Given the description of an element on the screen output the (x, y) to click on. 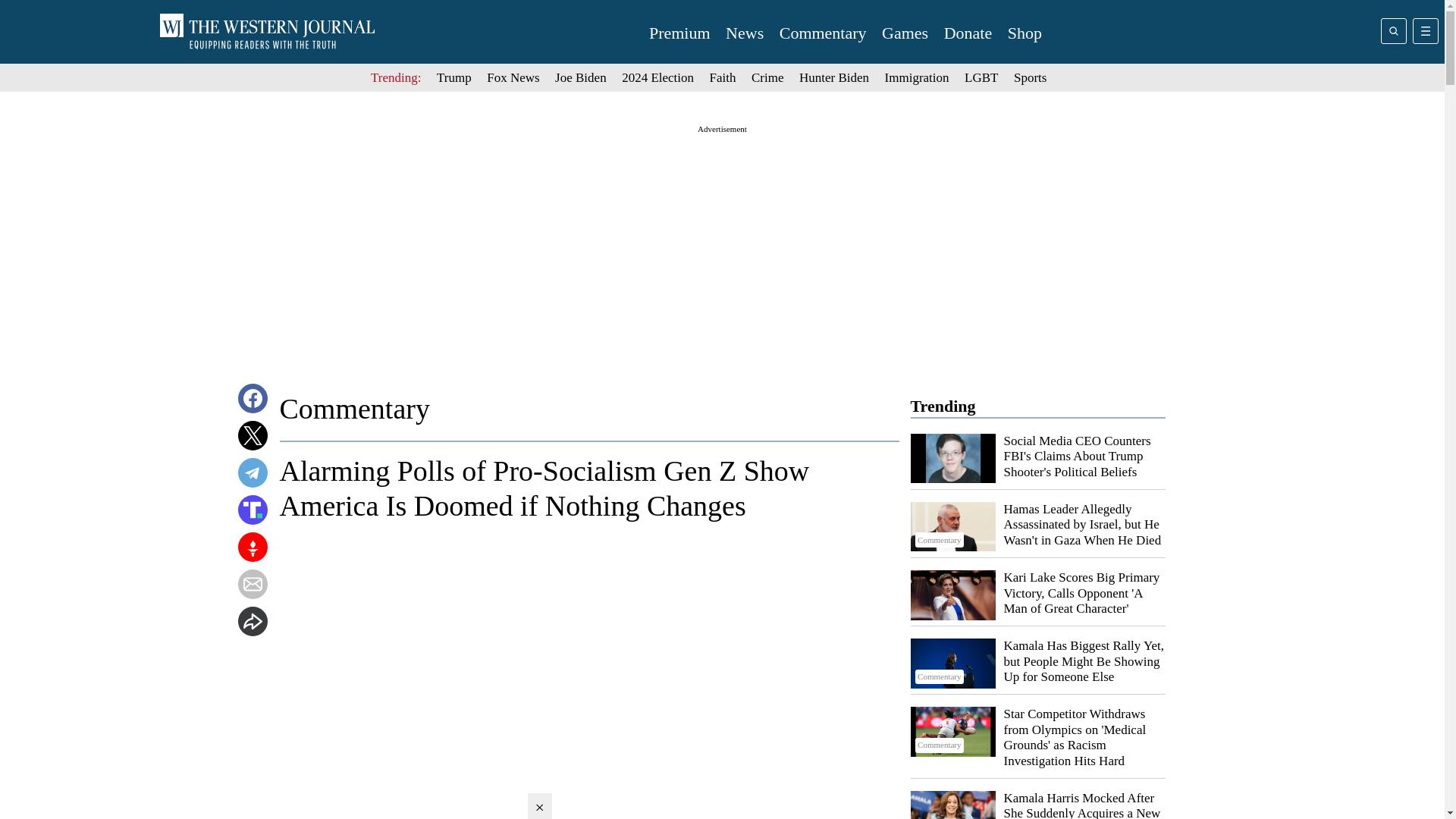
Joe Biden (580, 77)
Commentary (952, 663)
Commentary (952, 731)
Commentary (822, 32)
Hunter Biden (834, 77)
LGBT (980, 77)
Immigration (917, 77)
Commentary (952, 527)
Shop (1024, 32)
Fox News (512, 77)
Games (905, 32)
Sports (1029, 77)
Faith (723, 77)
